Given the description of an element on the screen output the (x, y) to click on. 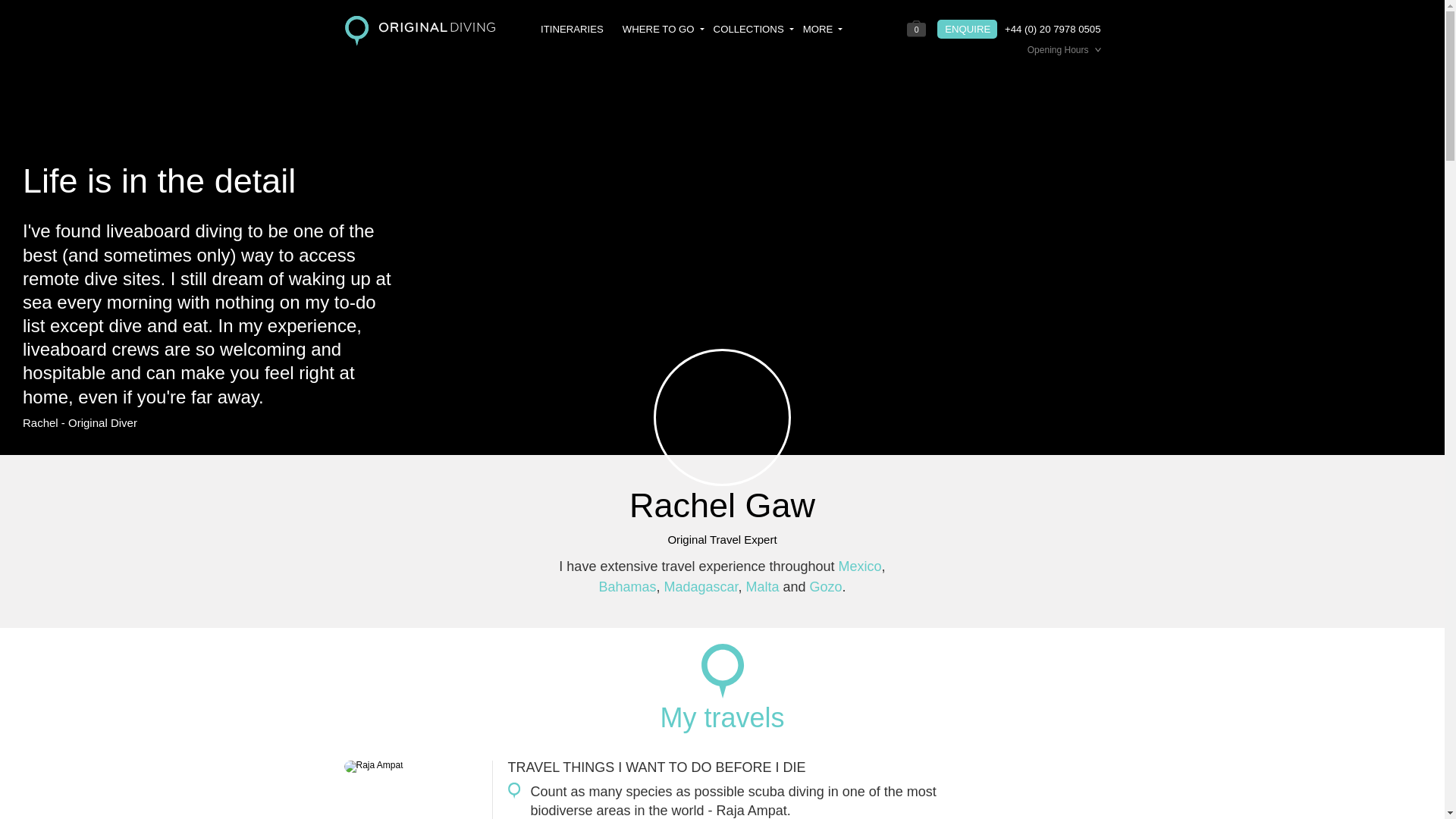
ITINERARIES (572, 29)
WHERE TO GO (663, 29)
MORE (823, 29)
COLLECTIONS (753, 29)
